Given the description of an element on the screen output the (x, y) to click on. 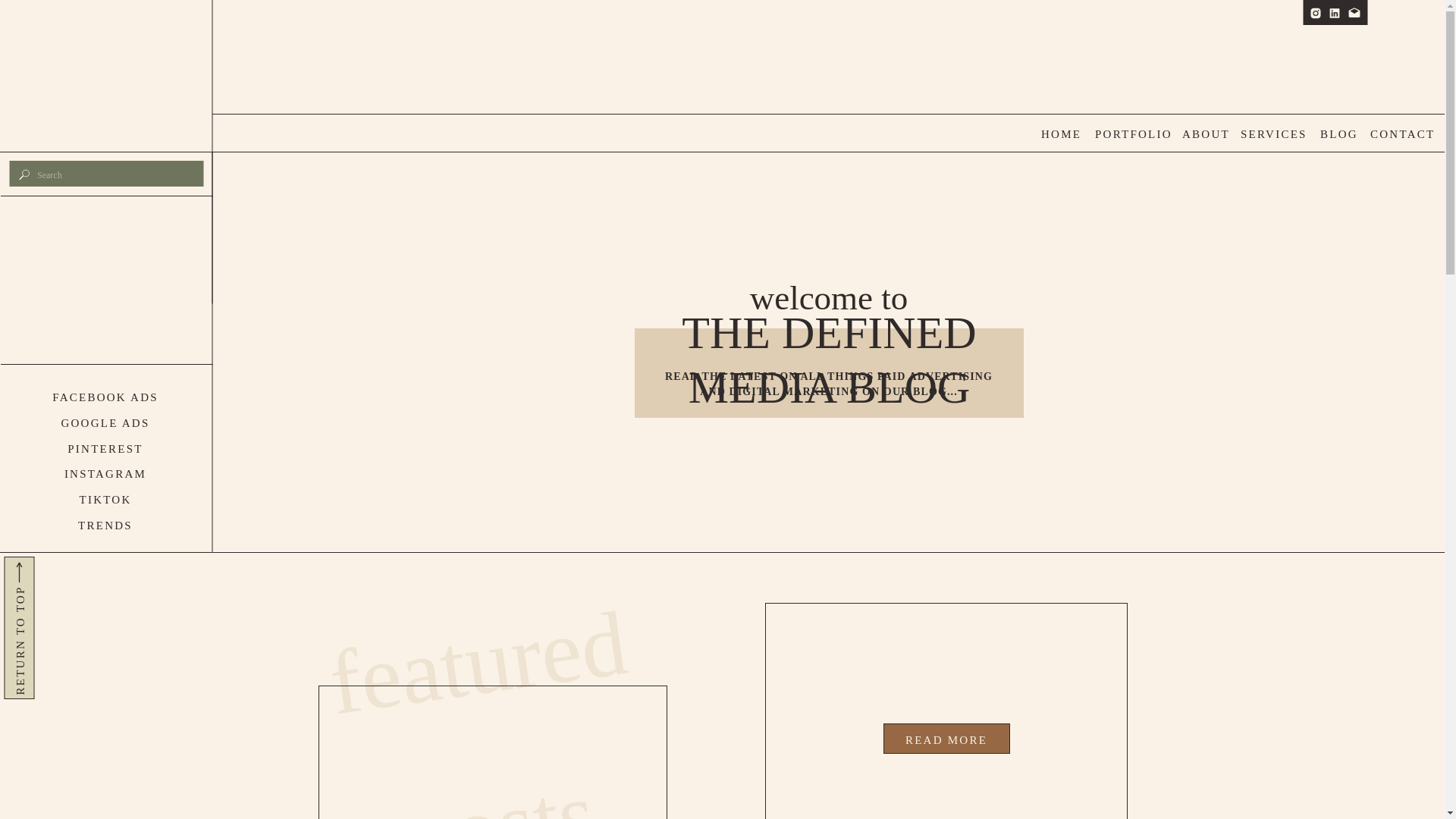
SERVICES (1270, 134)
FACEBOOK ADS (105, 394)
PORTFOLIO (1125, 134)
TRENDS (105, 522)
ABOUT (1212, 134)
BLOG (1350, 134)
PINTEREST (105, 446)
CONTACT (1400, 134)
HOME (1071, 134)
TIKTOK (105, 497)
